Given the description of an element on the screen output the (x, y) to click on. 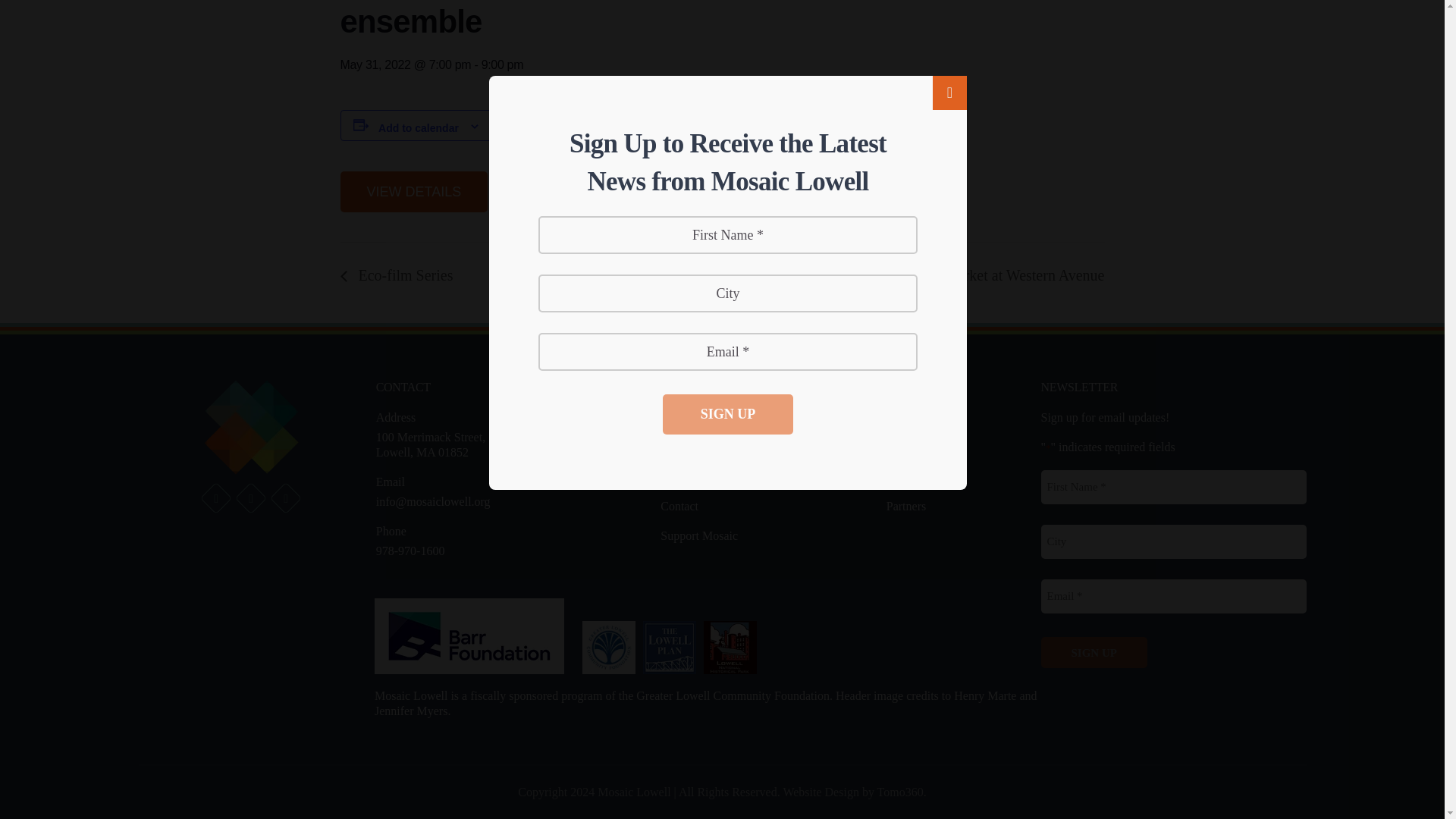
Add to calendar (418, 128)
